Given the description of an element on the screen output the (x, y) to click on. 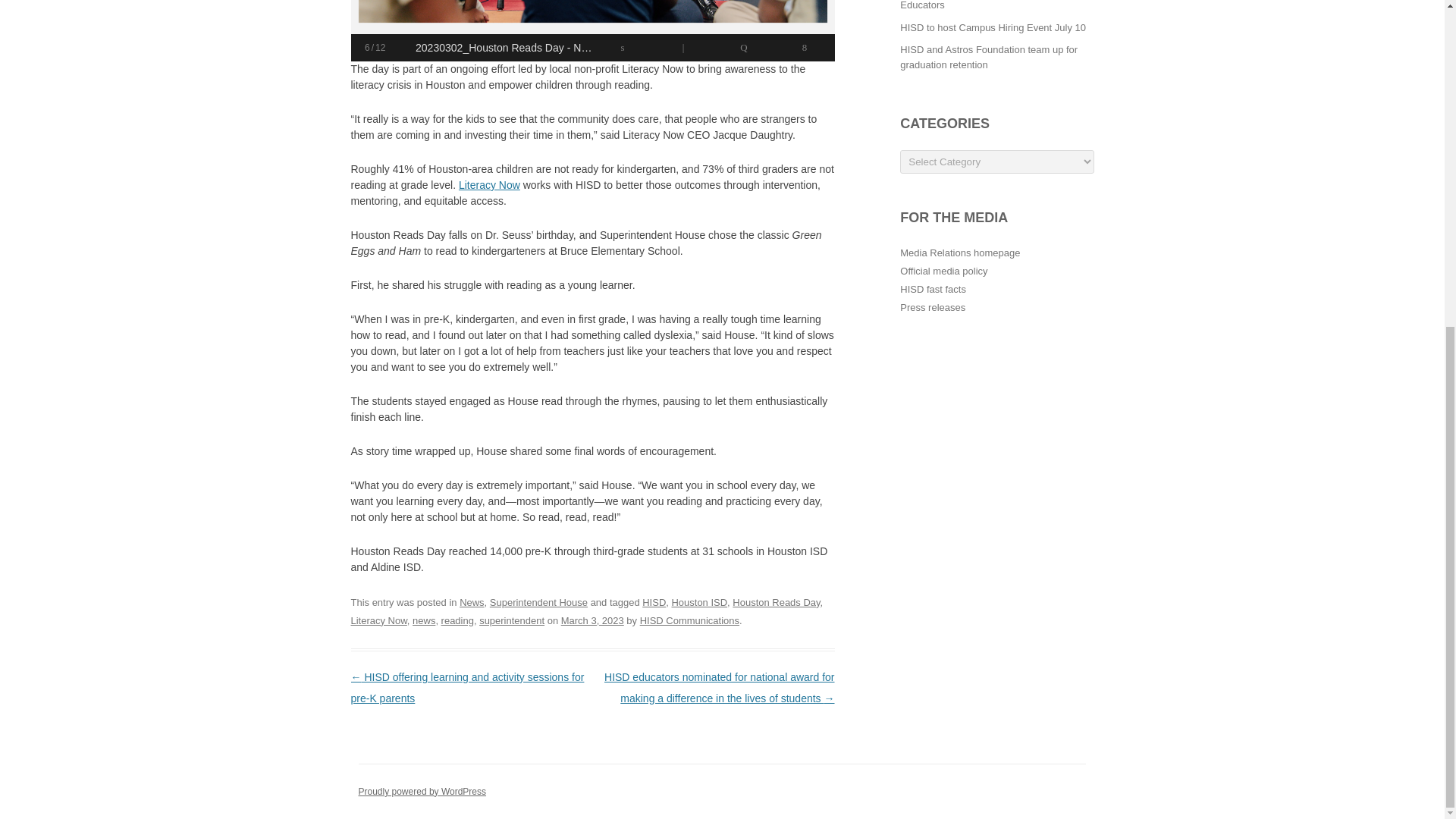
8:33 am (592, 620)
Semantic Personal Publishing Platform (422, 791)
HISD (653, 602)
Houston ISD (698, 602)
Superintendent House (538, 602)
View all posts by HISD Communications (689, 620)
reading (457, 620)
HISD Communications (689, 620)
News (471, 602)
superintendent (511, 620)
Literacy Now (378, 620)
Houston Reads Day (775, 602)
March 3, 2023 (592, 620)
Literacy Now (488, 184)
news (423, 620)
